Given the description of an element on the screen output the (x, y) to click on. 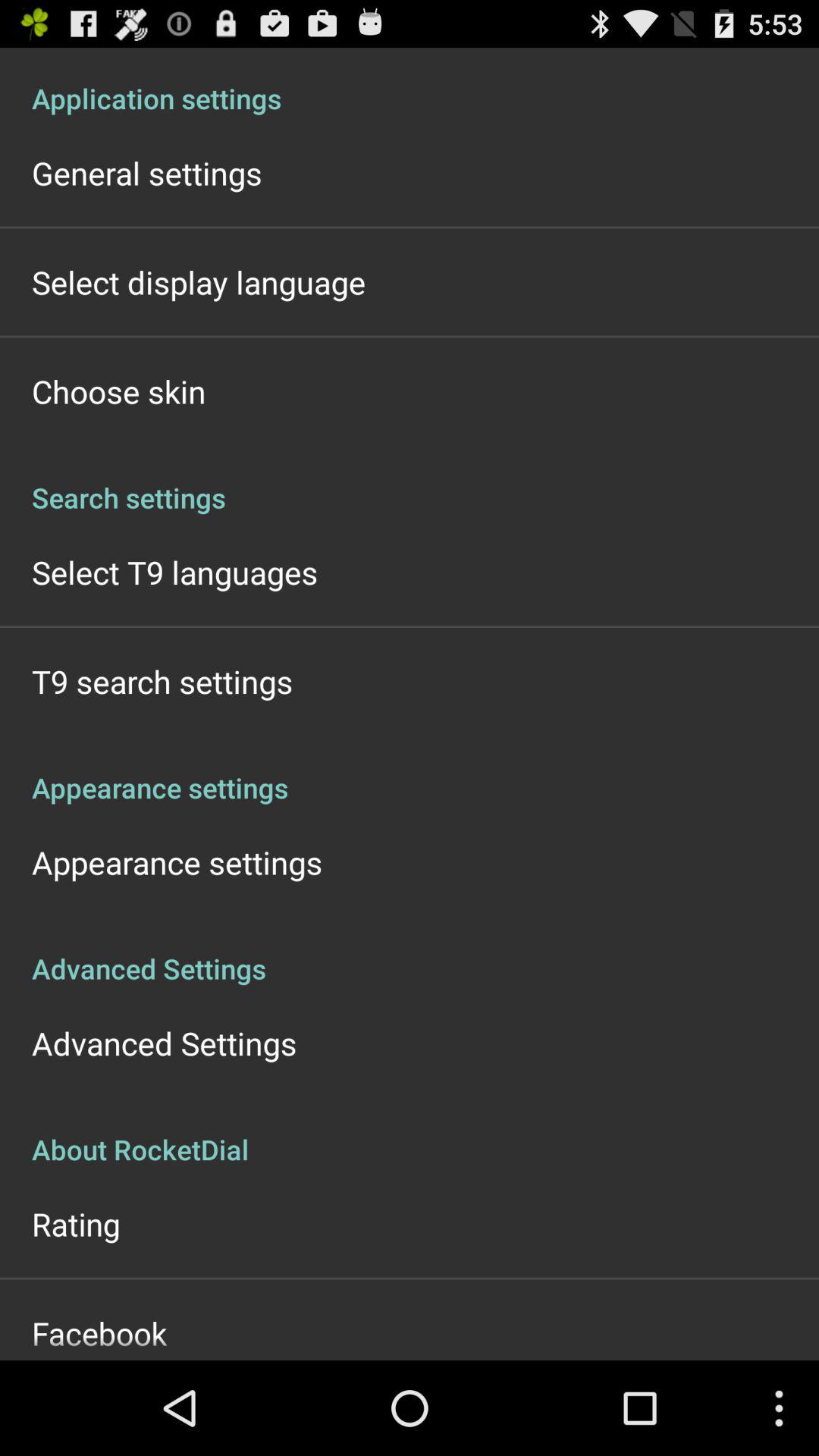
scroll to the rating (75, 1223)
